Given the description of an element on the screen output the (x, y) to click on. 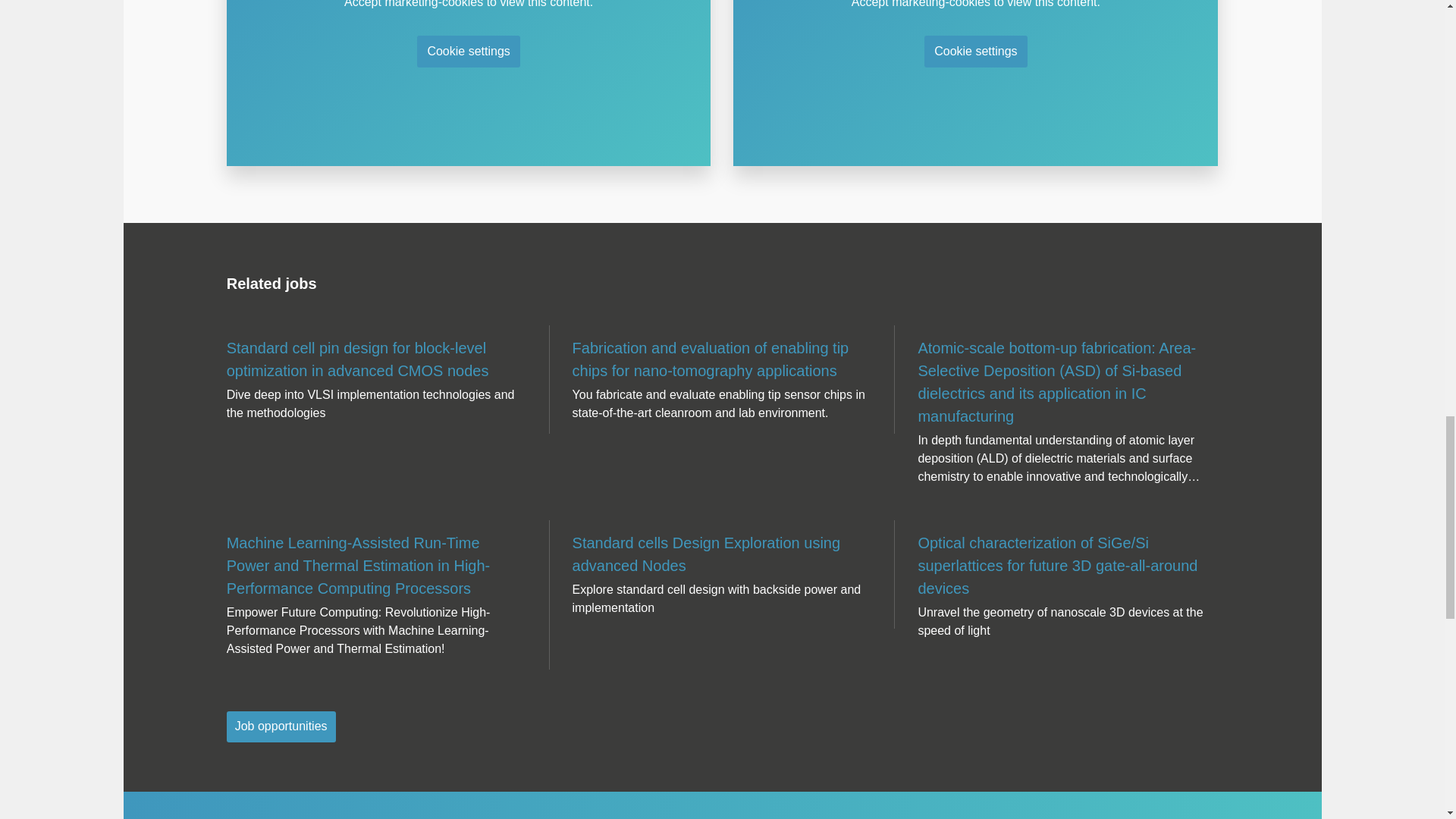
Cookie settings (975, 51)
Job opportunities (281, 726)
Cookie settings (467, 51)
